Given the description of an element on the screen output the (x, y) to click on. 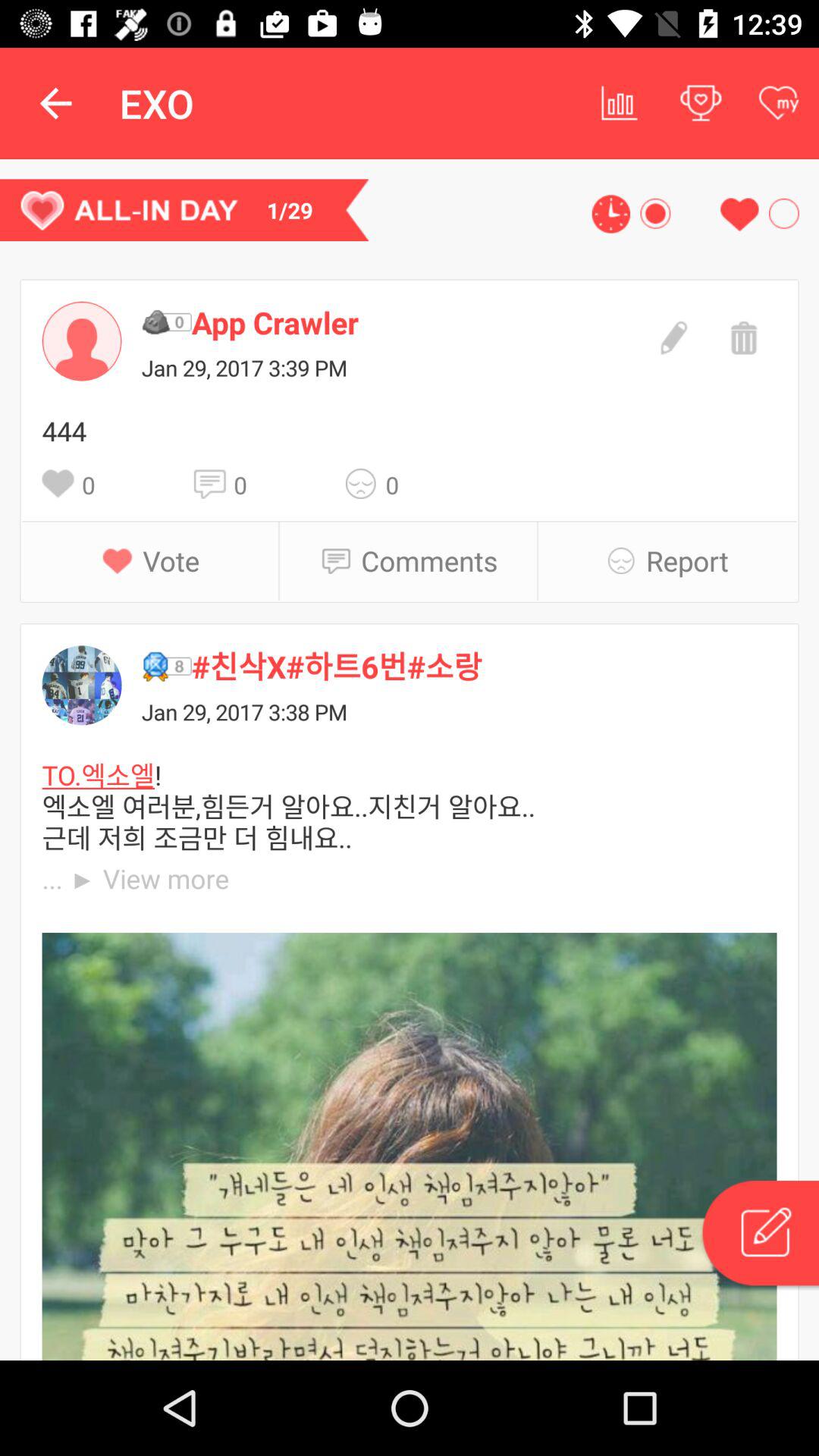
select the item below the 0 item (429, 560)
